Given the description of an element on the screen output the (x, y) to click on. 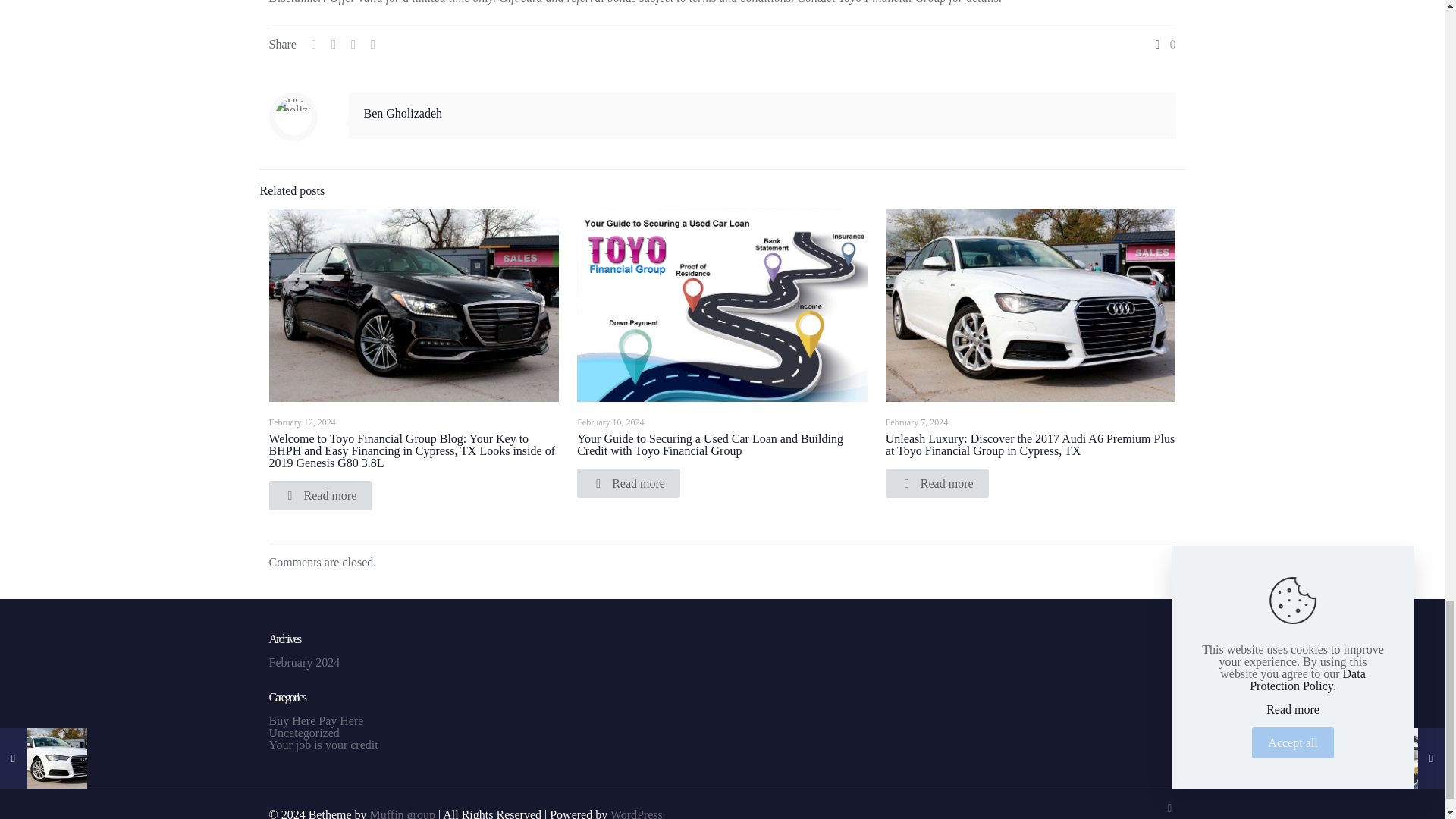
Uncategorized (303, 732)
Your job is your credit (322, 744)
Ben Gholizadeh (403, 113)
Read more (936, 482)
Read more (627, 482)
February 2024 (303, 662)
Read more (319, 495)
0 (1162, 44)
Buy Here Pay Here (314, 720)
